Given the description of an element on the screen output the (x, y) to click on. 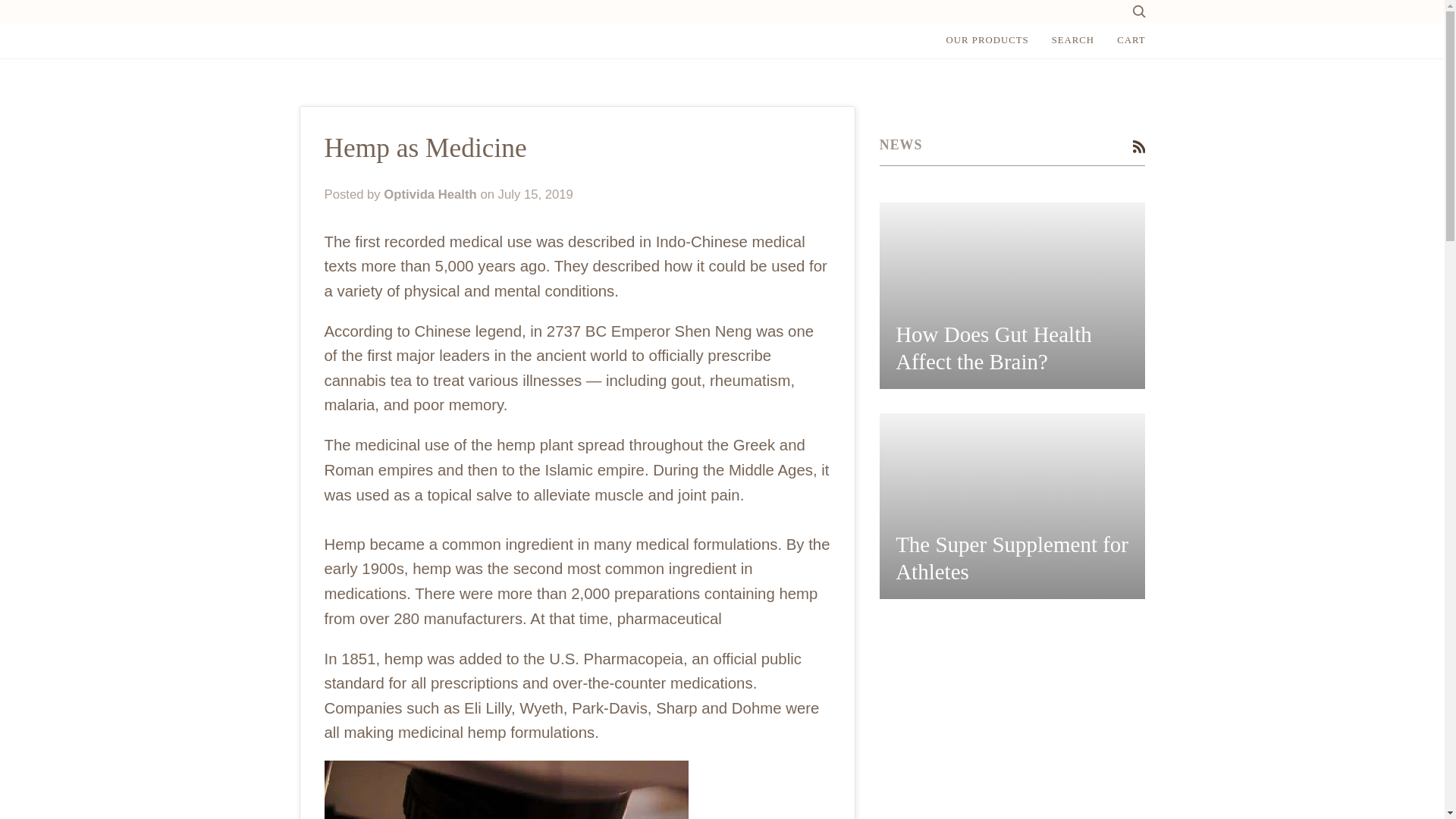
OUR PRODUCTS (987, 40)
CART (1130, 40)
SEARCH (1073, 40)
